Given the description of an element on the screen output the (x, y) to click on. 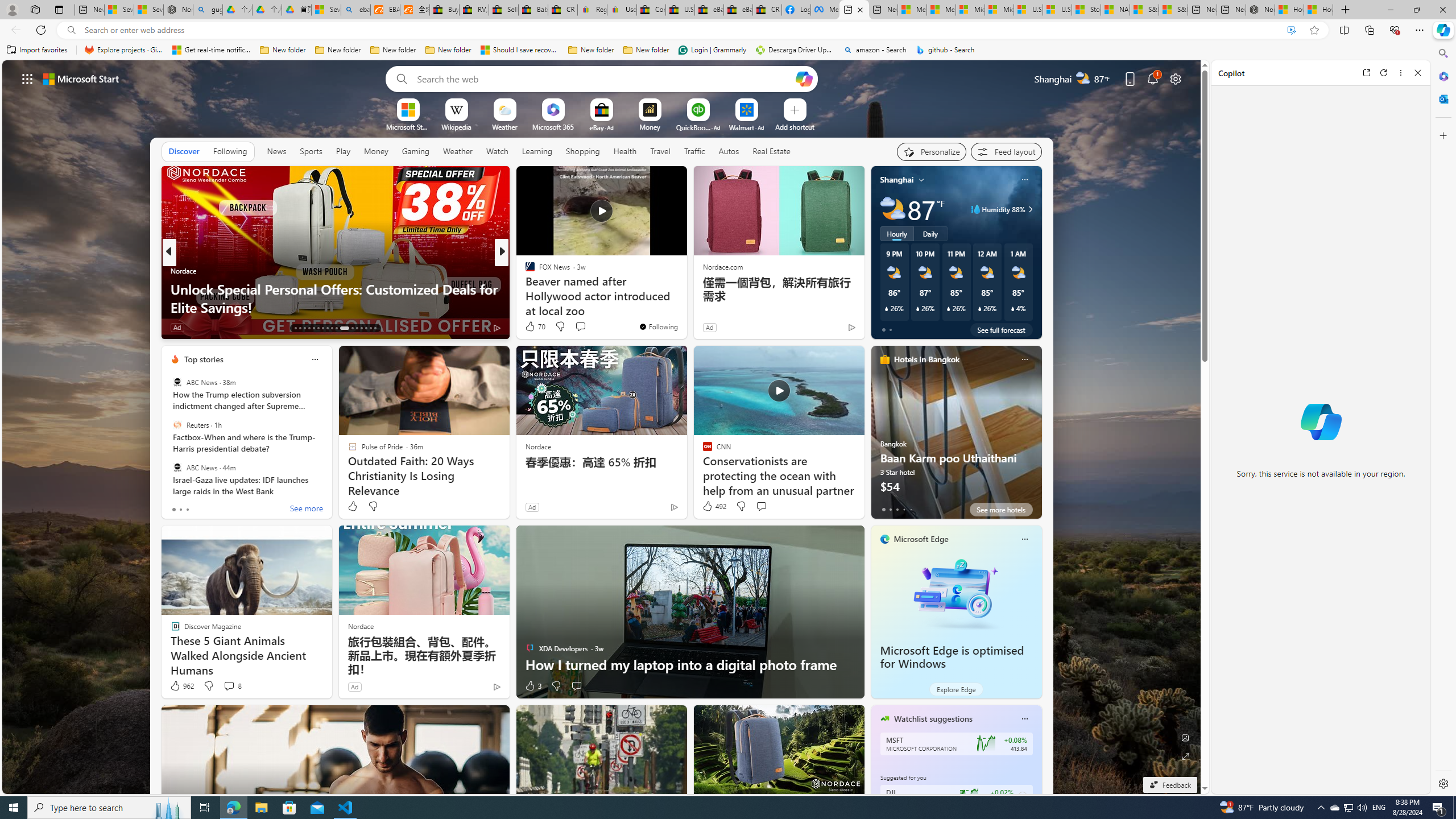
Split screen (1344, 29)
Real Estate (771, 151)
Feedback (1169, 784)
Following (229, 151)
AutomationID: tab-17 (313, 328)
Feed settings (1005, 151)
Microsoft 365 (1442, 76)
Close tab (860, 9)
Class: icon-img (1024, 718)
AutomationID: tab-33 (366, 328)
Play (342, 151)
Wikipedia (456, 126)
tab-3 (903, 509)
Class: weather-current-precipitation-glyph (1012, 308)
